Given the description of an element on the screen output the (x, y) to click on. 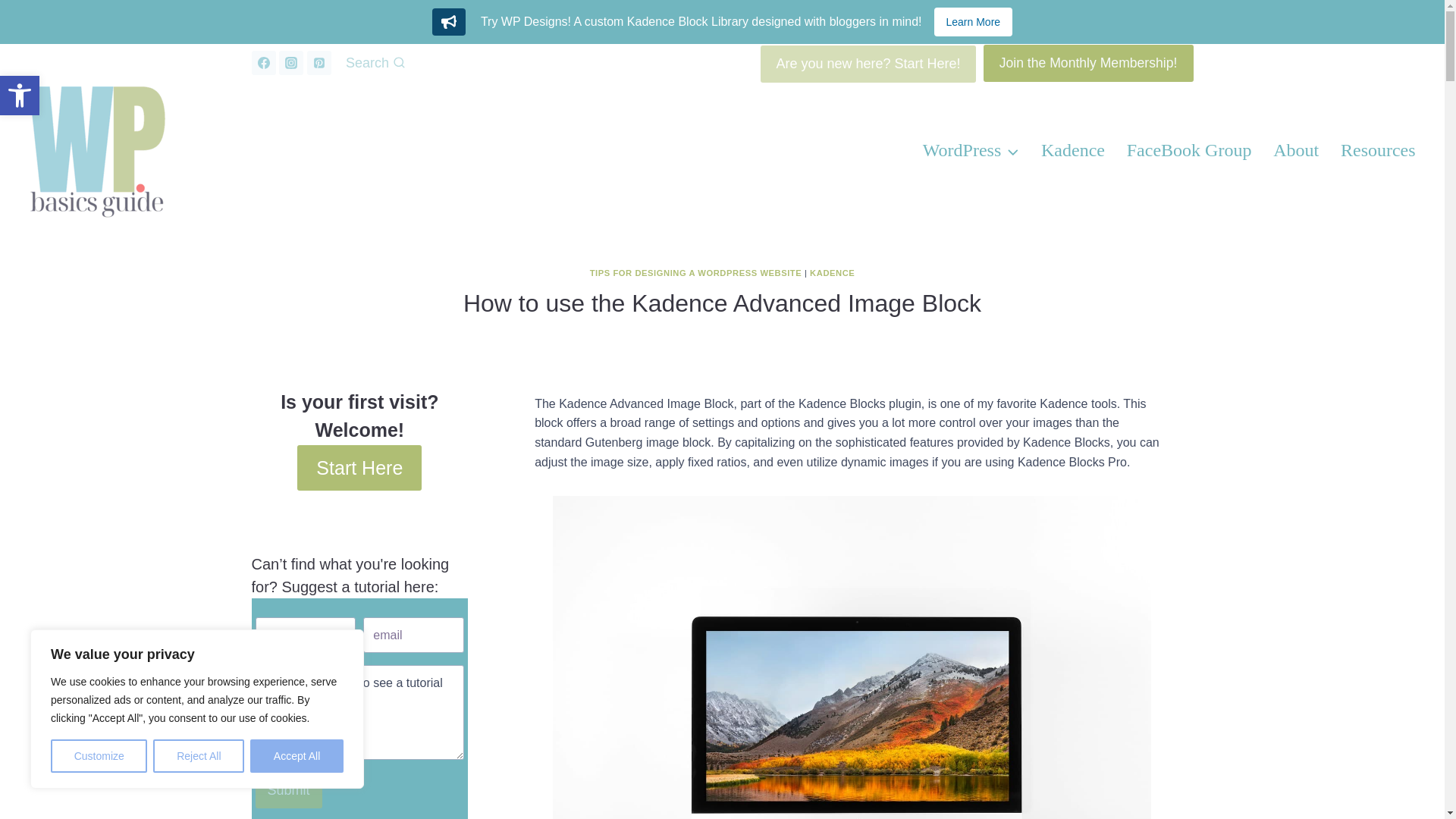
Search (375, 63)
Accessibility Tools (19, 95)
Are you new here? Start Here! (867, 63)
Customize (98, 756)
Are you new here? Start Here! (867, 63)
Reject All (198, 756)
Accessibility Tools (19, 95)
Join the Monthly Membership! (1088, 63)
Accept All (19, 95)
WordPress (296, 756)
Author (970, 150)
